Given the description of an element on the screen output the (x, y) to click on. 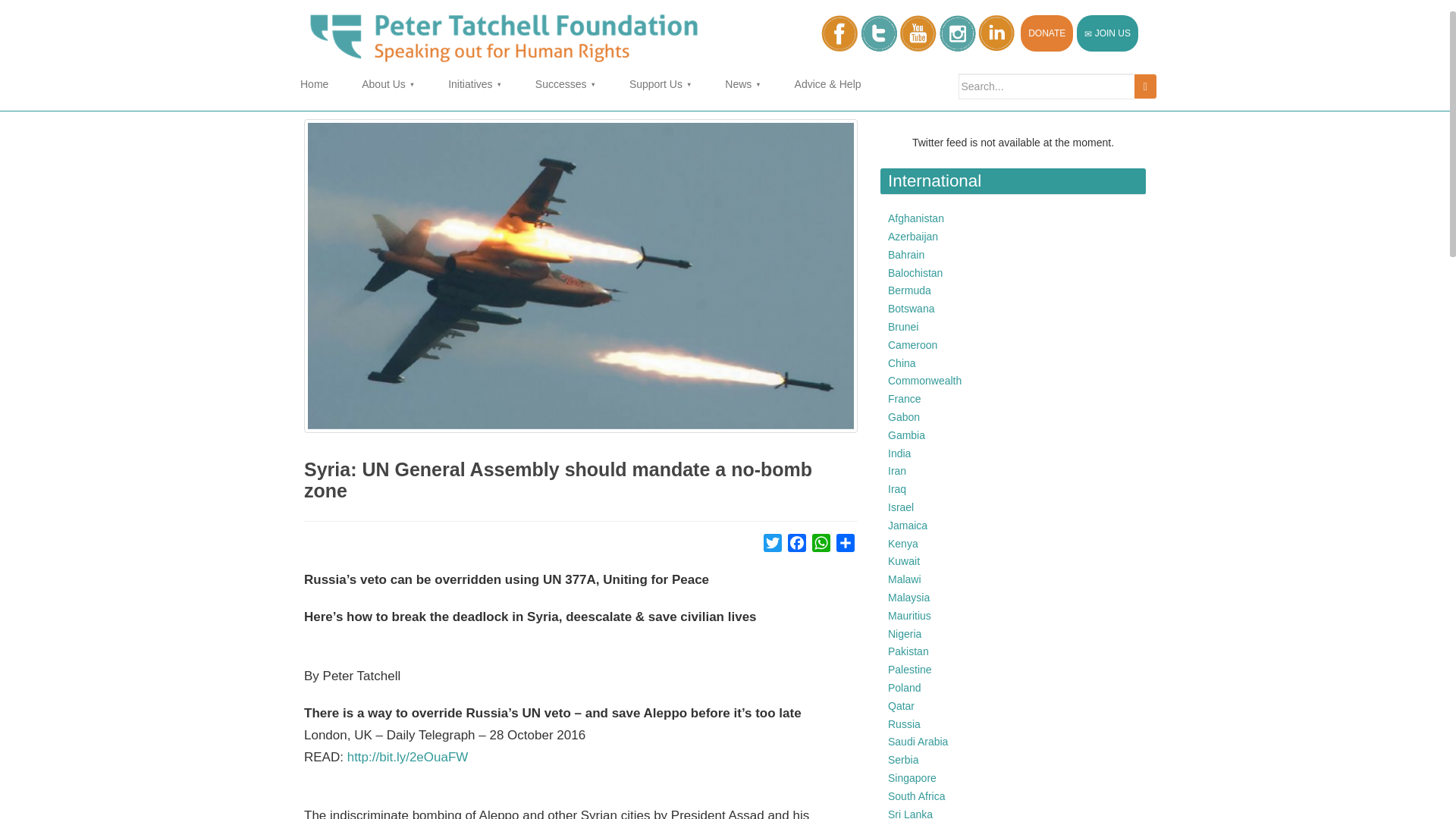
LinkedIn (996, 33)
twitter (878, 33)
Twitter (772, 545)
Initiatives (475, 84)
Join us (1107, 33)
Home (314, 84)
About Us (387, 84)
Donate (1046, 33)
Facebook (796, 545)
WhatsApp (820, 545)
Instagram (957, 33)
facebook (839, 33)
JOIN US (1107, 33)
youtube (917, 33)
DONATE (1046, 33)
